Given the description of an element on the screen output the (x, y) to click on. 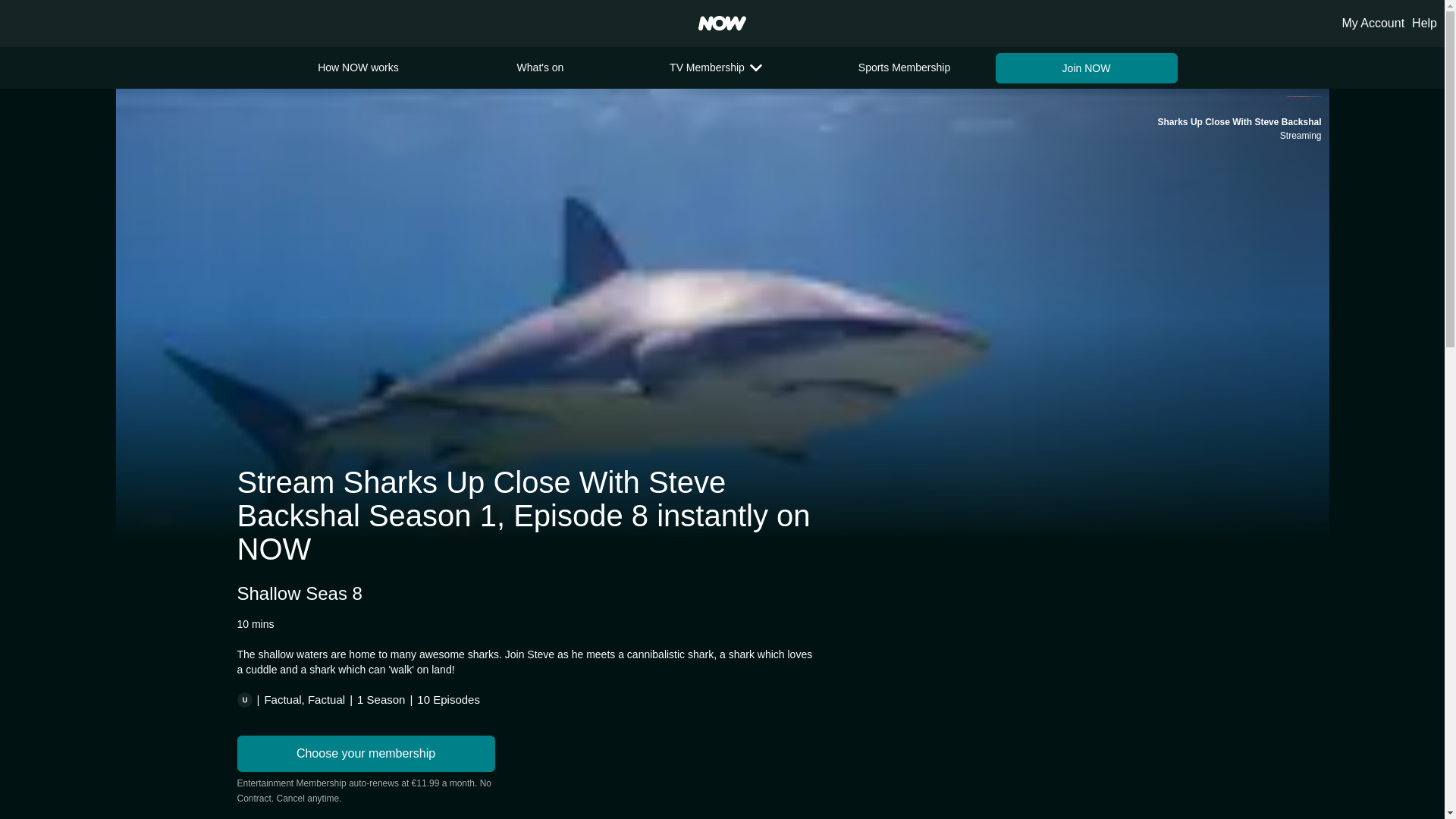
NOW - Home (721, 22)
Join NOW (1085, 68)
My Account (1372, 23)
What's on (539, 67)
Sports Membership (903, 67)
TV Membership (721, 67)
How NOW works (357, 67)
Choose your membership (365, 753)
